Given the description of an element on the screen output the (x, y) to click on. 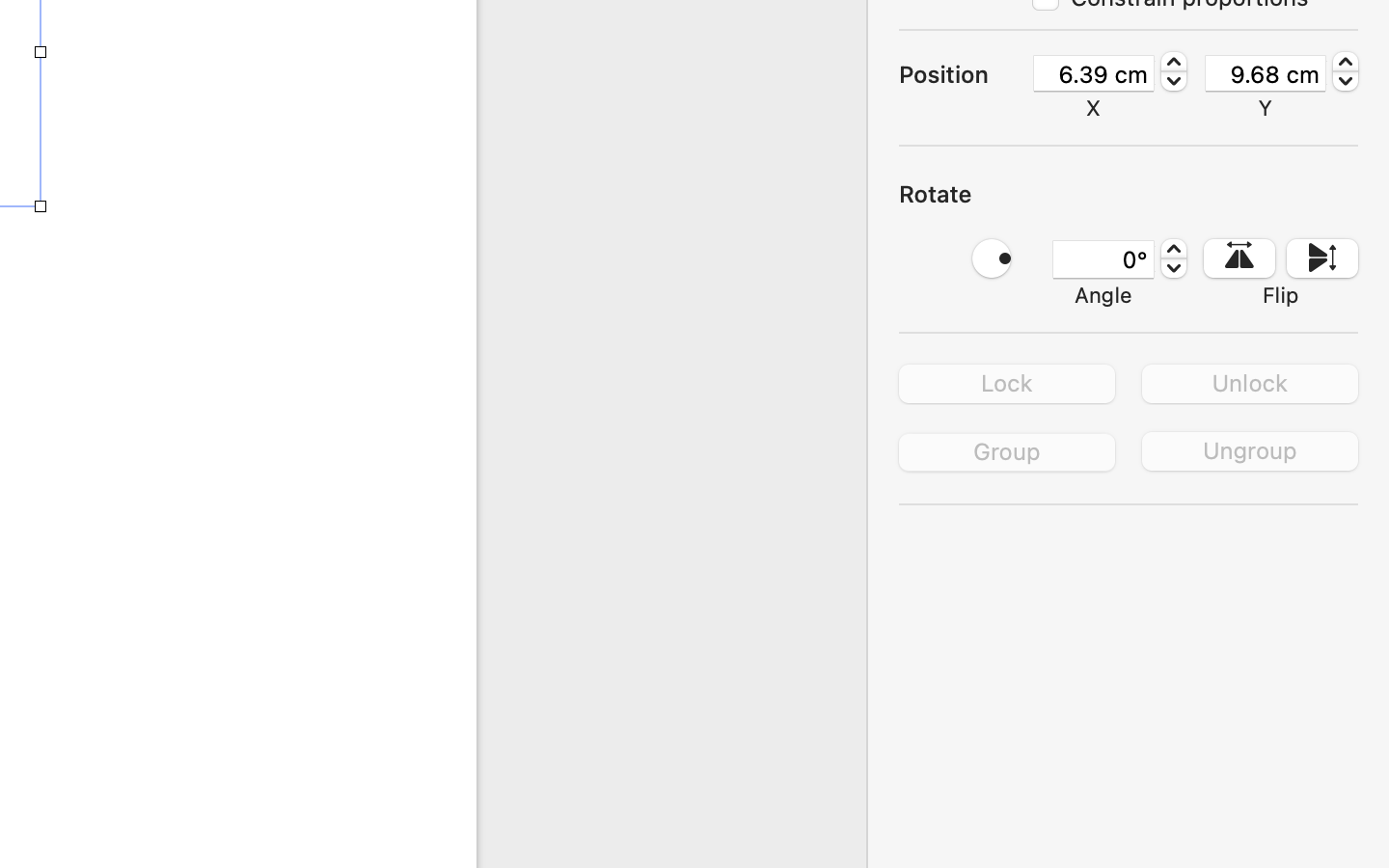
Y Element type: AXStaticText (1265, 107)
